Given the description of an element on the screen output the (x, y) to click on. 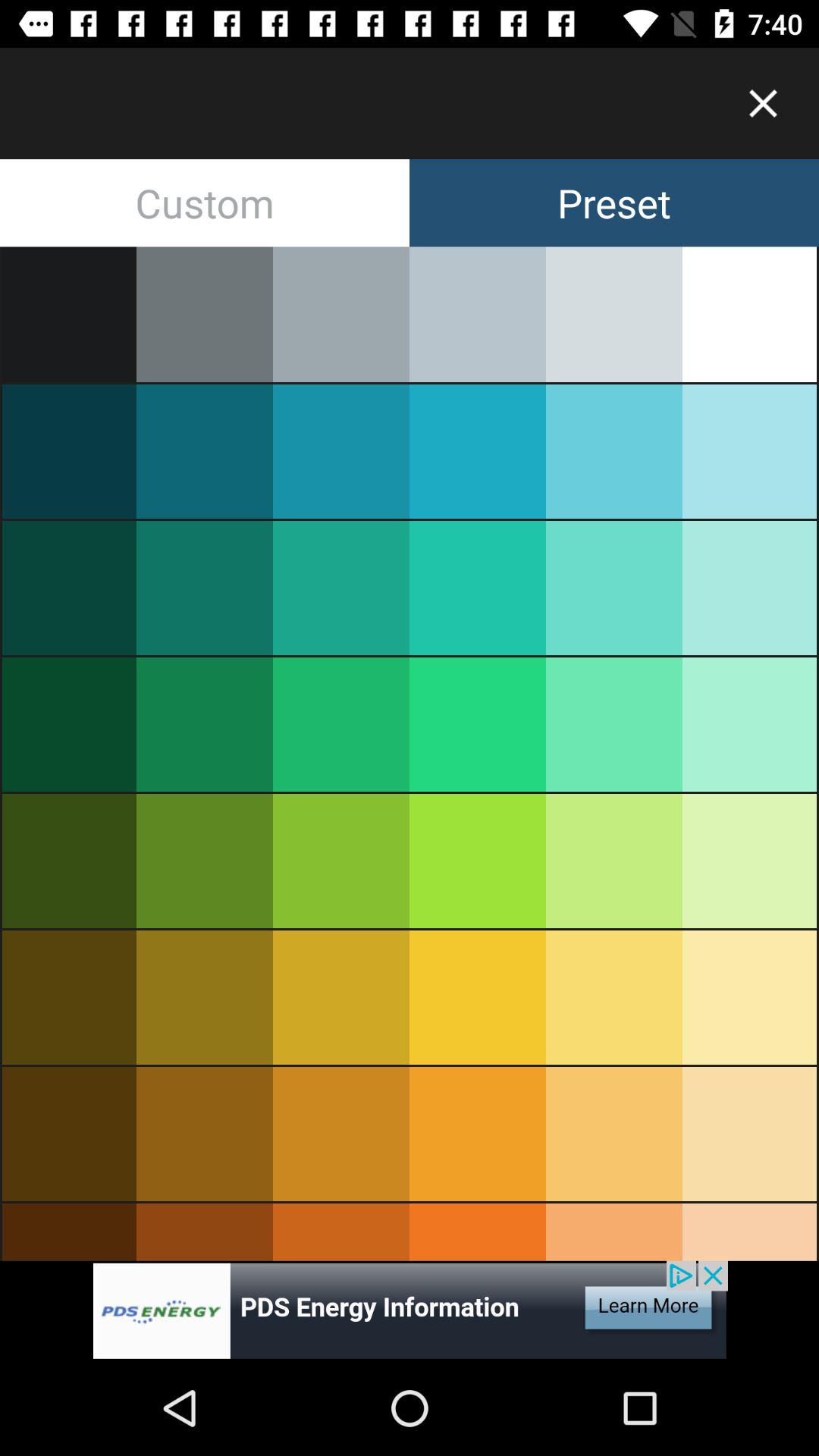
sponsor advertisement for pds energy information (409, 1310)
